Given the description of an element on the screen output the (x, y) to click on. 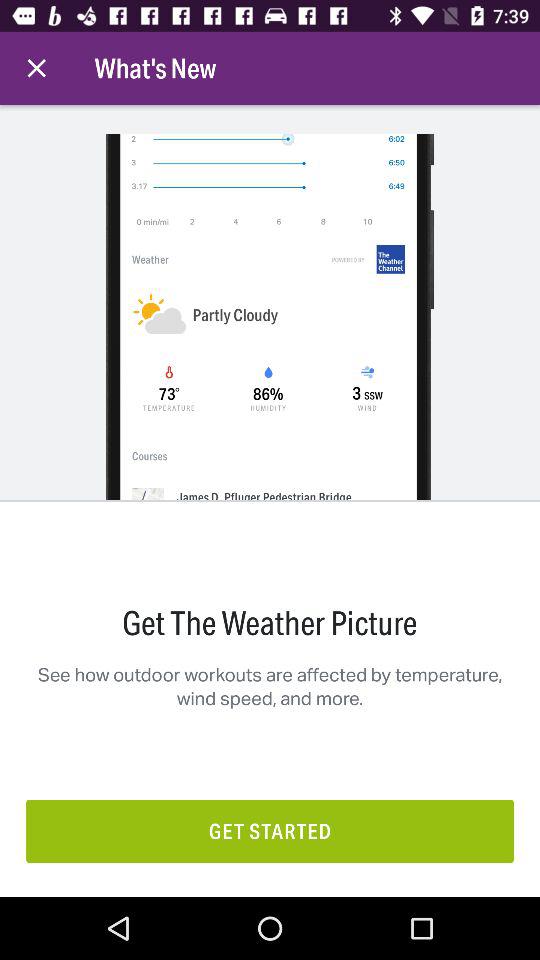
open the item next to the what's new (36, 68)
